Given the description of an element on the screen output the (x, y) to click on. 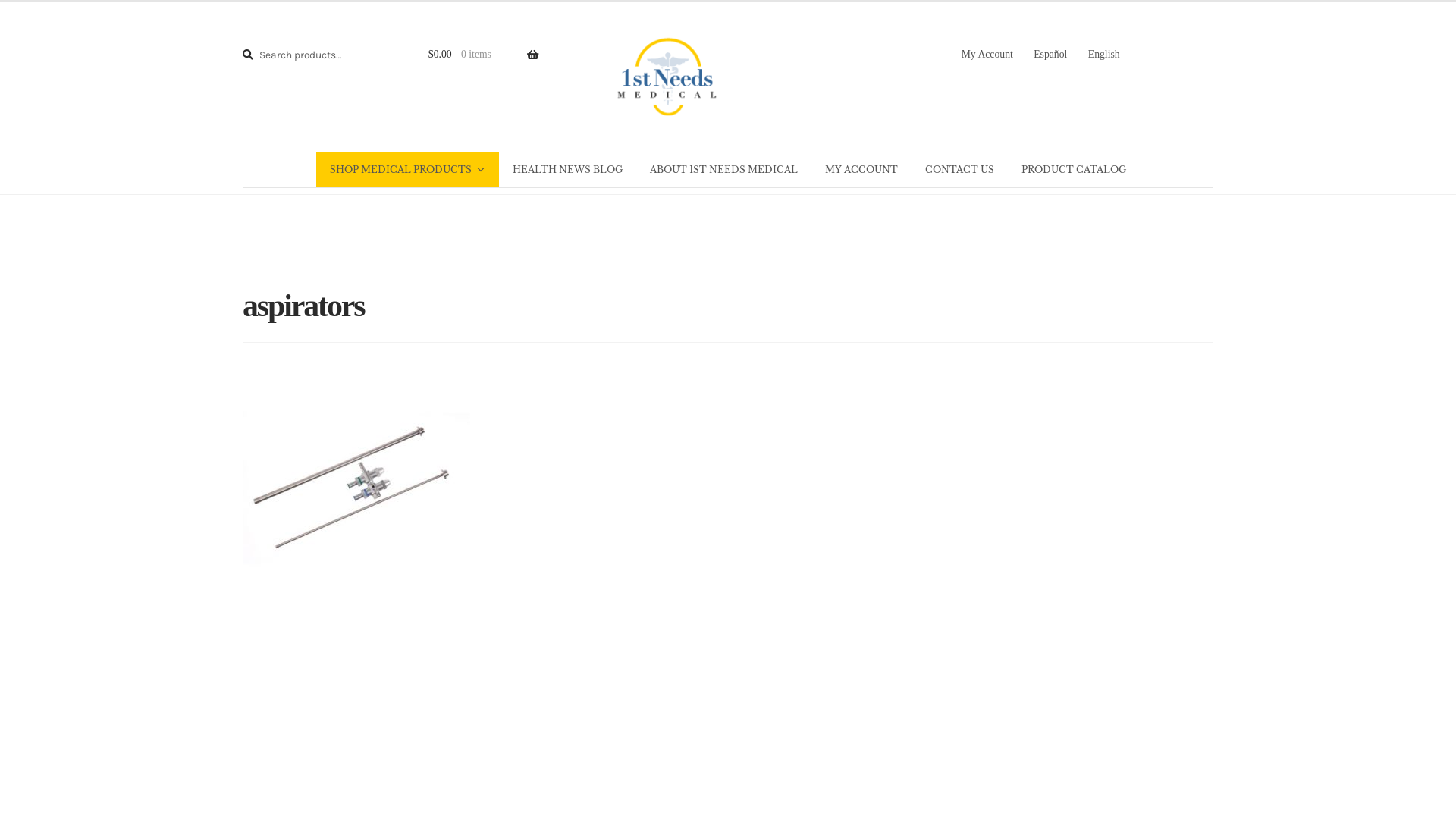
Search Element type: text (244, 42)
My Account Element type: text (987, 54)
HEALTH NEWS BLOG Element type: text (567, 169)
English Element type: text (1104, 54)
$0.00 0 items Element type: text (474, 54)
SHOP MEDICAL PRODUCTS Element type: text (407, 169)
CONTACT US Element type: text (959, 169)
PRODUCT CATALOG Element type: text (1073, 169)
ABOUT 1ST NEEDS MEDICAL Element type: text (723, 169)
Skip to navigation Element type: text (579, 1)
MY ACCOUNT Element type: text (861, 169)
